Given the description of an element on the screen output the (x, y) to click on. 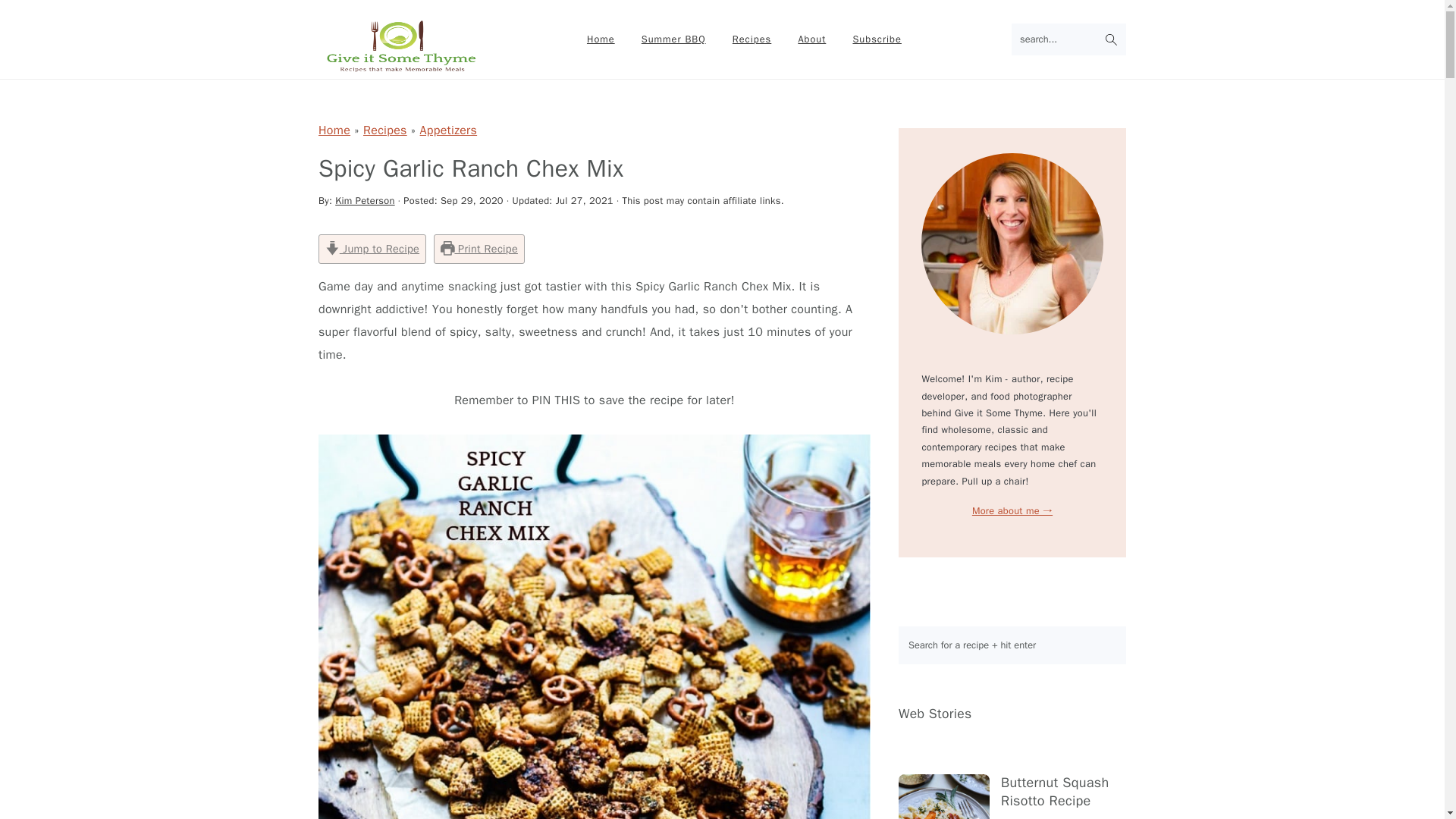
About (811, 39)
Give it Some Thyme (399, 64)
Subscribe (876, 39)
Summer BBQ (673, 39)
Home (600, 39)
Recipes (751, 39)
Give it Some Thyme (399, 45)
